Given the description of an element on the screen output the (x, y) to click on. 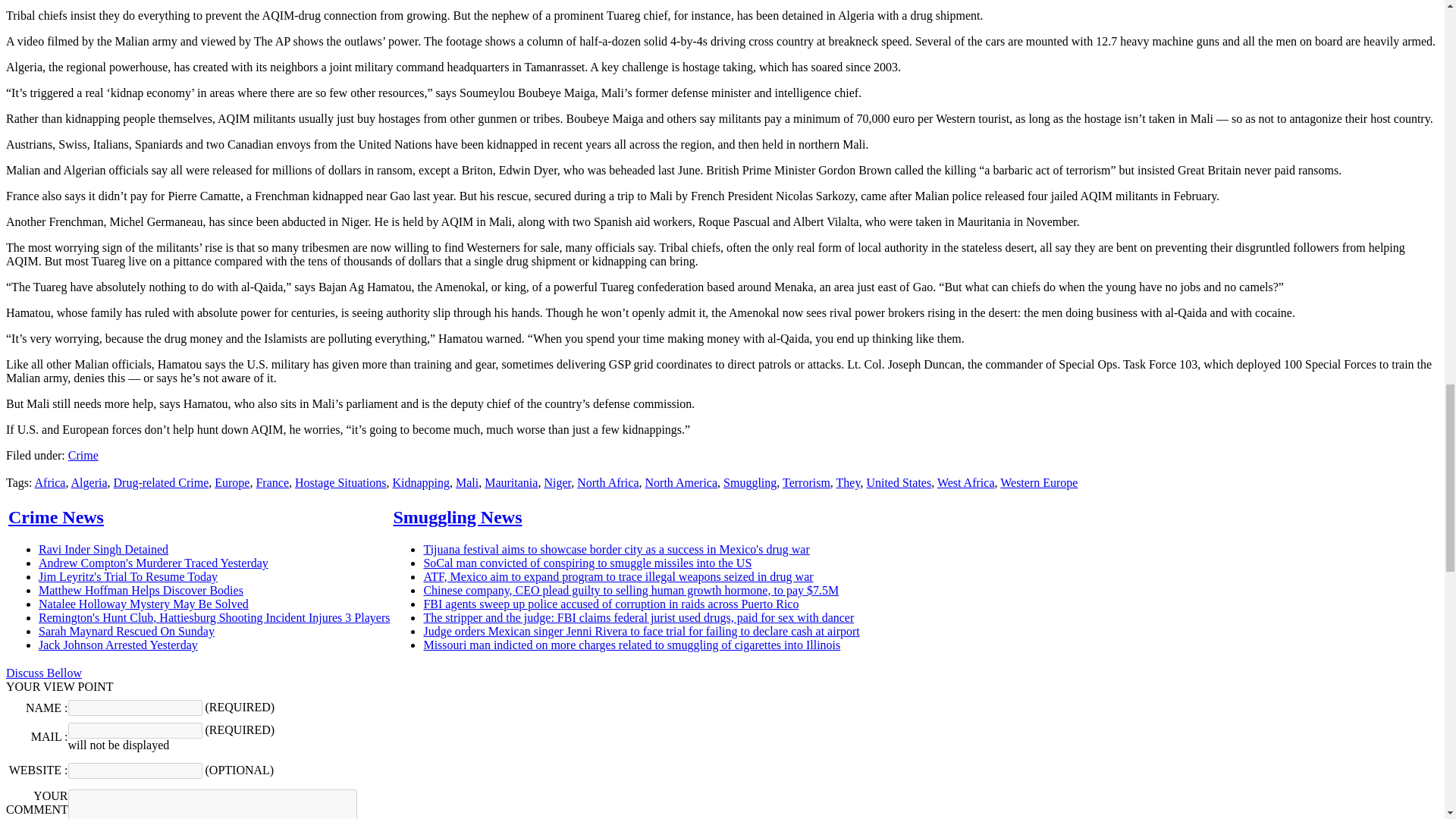
Hostage Situations (340, 481)
France (272, 481)
Africa (49, 481)
Drug-related Crime (161, 481)
Crime (83, 454)
Europe (231, 481)
Algeria (89, 481)
Kidnapping (420, 481)
